Given the description of an element on the screen output the (x, y) to click on. 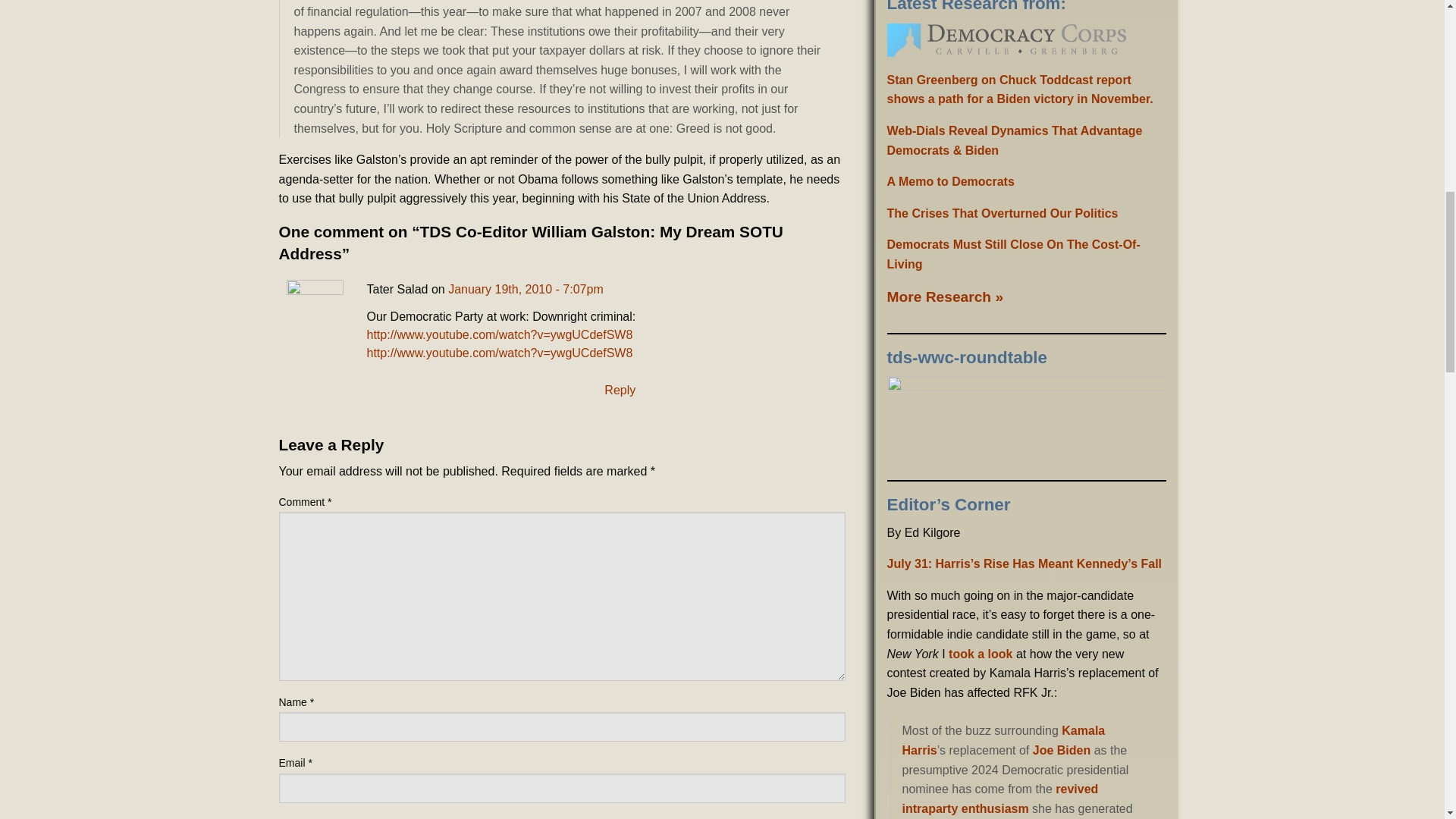
tds-wwc-roundtable (1026, 422)
Reply (619, 390)
A Memo to Democrats (950, 181)
Democrats Must Still Close On The Cost-Of-Living (1013, 254)
The Crises That Overturned Our Politics (1002, 213)
January 19th, 2010 - 7:07pm (526, 288)
